Given the description of an element on the screen output the (x, y) to click on. 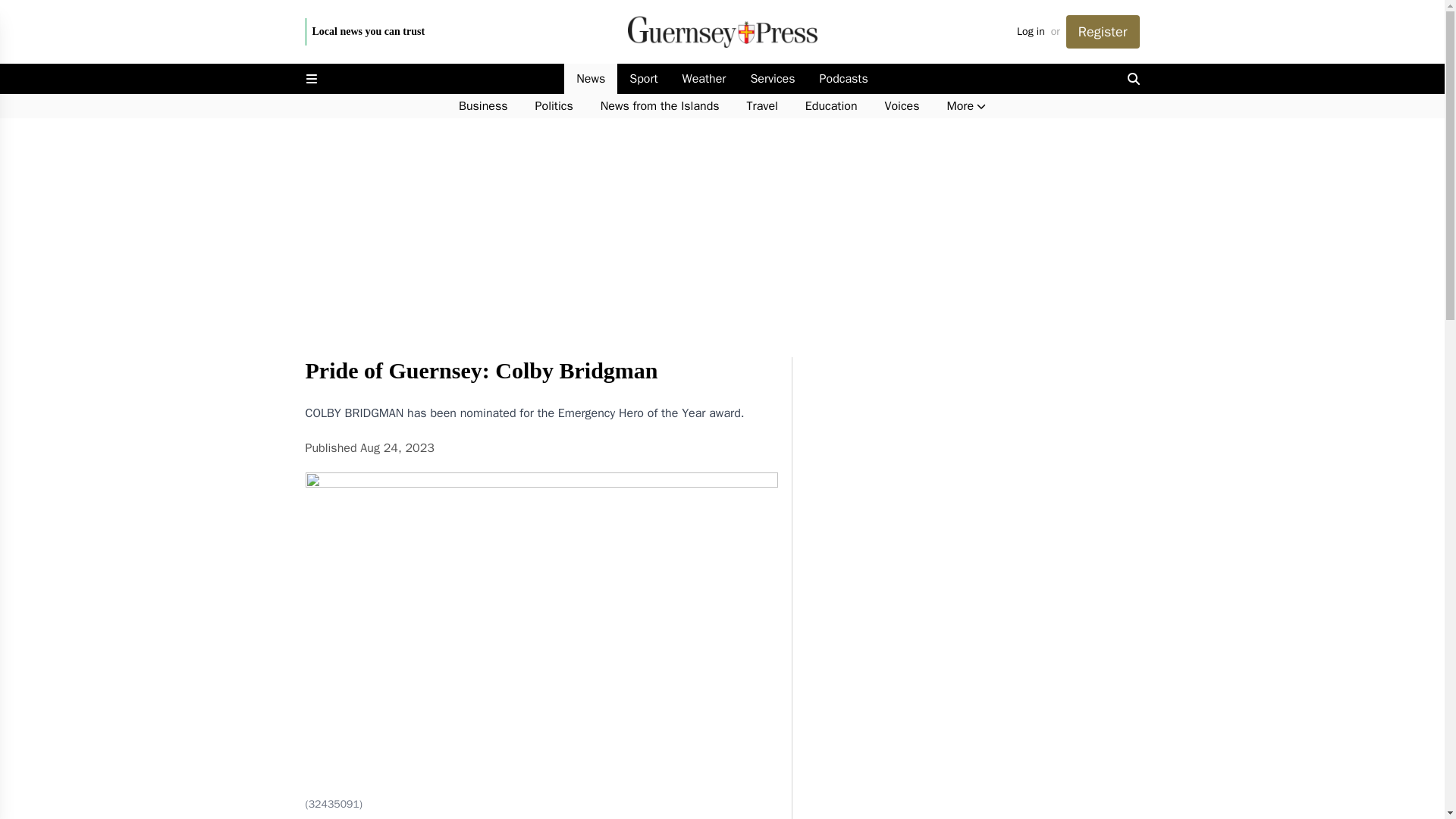
Business (482, 105)
Education (831, 105)
Voices (901, 105)
More (965, 105)
Politics (553, 105)
Sport (643, 78)
News from the Islands (660, 105)
Register (1102, 31)
News (590, 78)
Travel (762, 105)
